Given the description of an element on the screen output the (x, y) to click on. 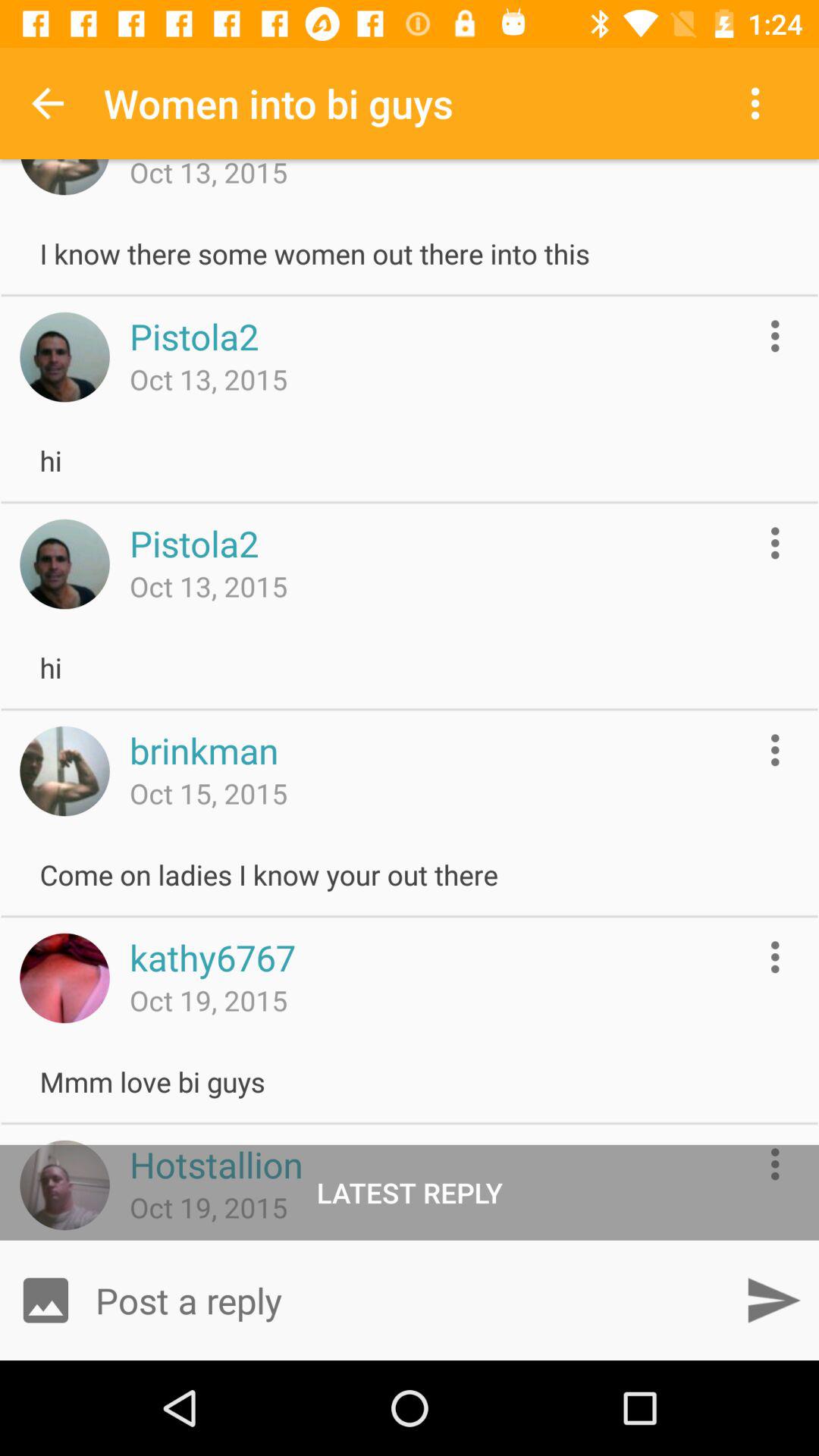
view user profile (64, 978)
